Given the description of an element on the screen output the (x, y) to click on. 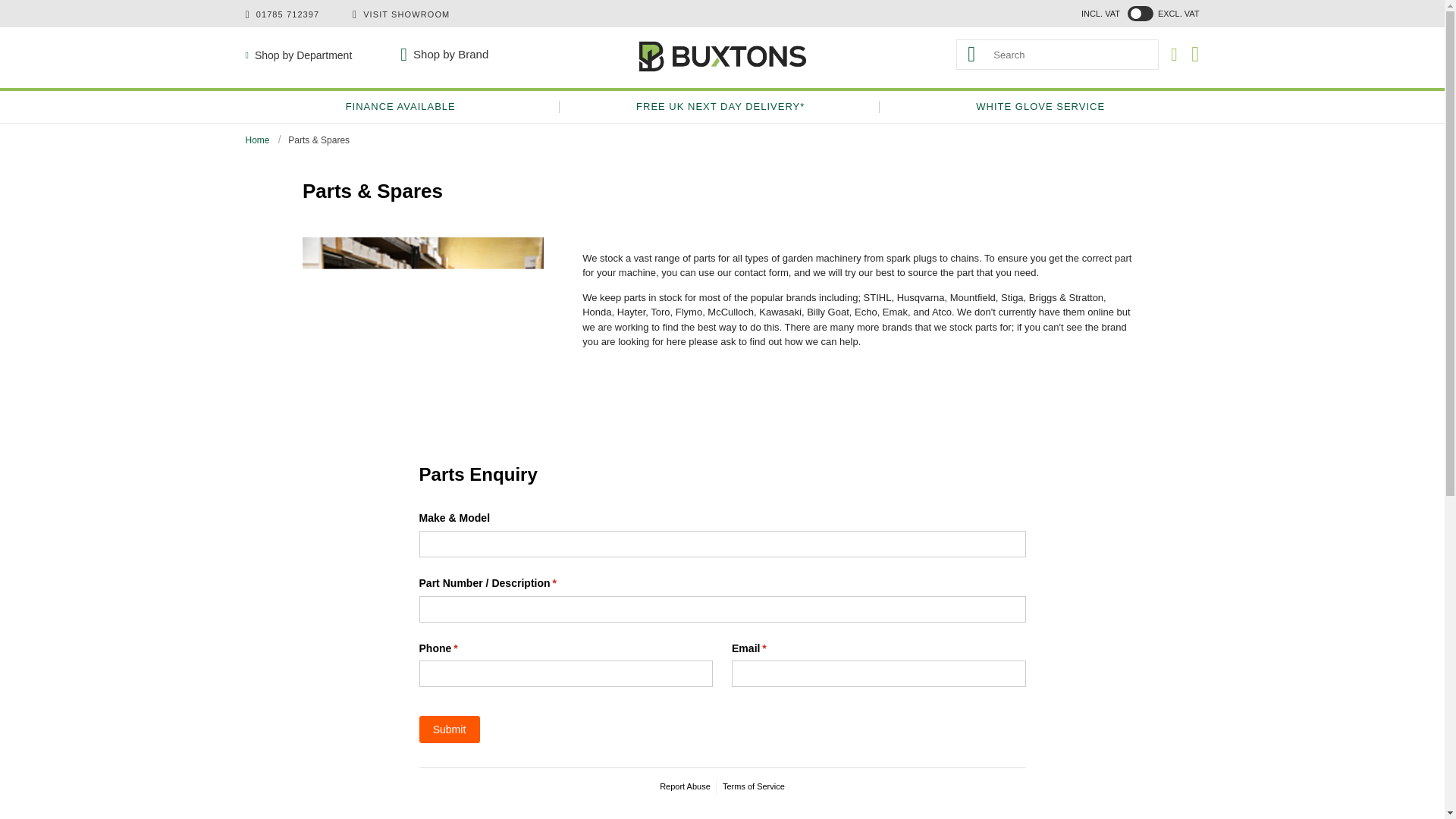
01785 712397 (288, 13)
VISIT SHOWROOM (405, 13)
Shop by Brand (443, 54)
